Given the description of an element on the screen output the (x, y) to click on. 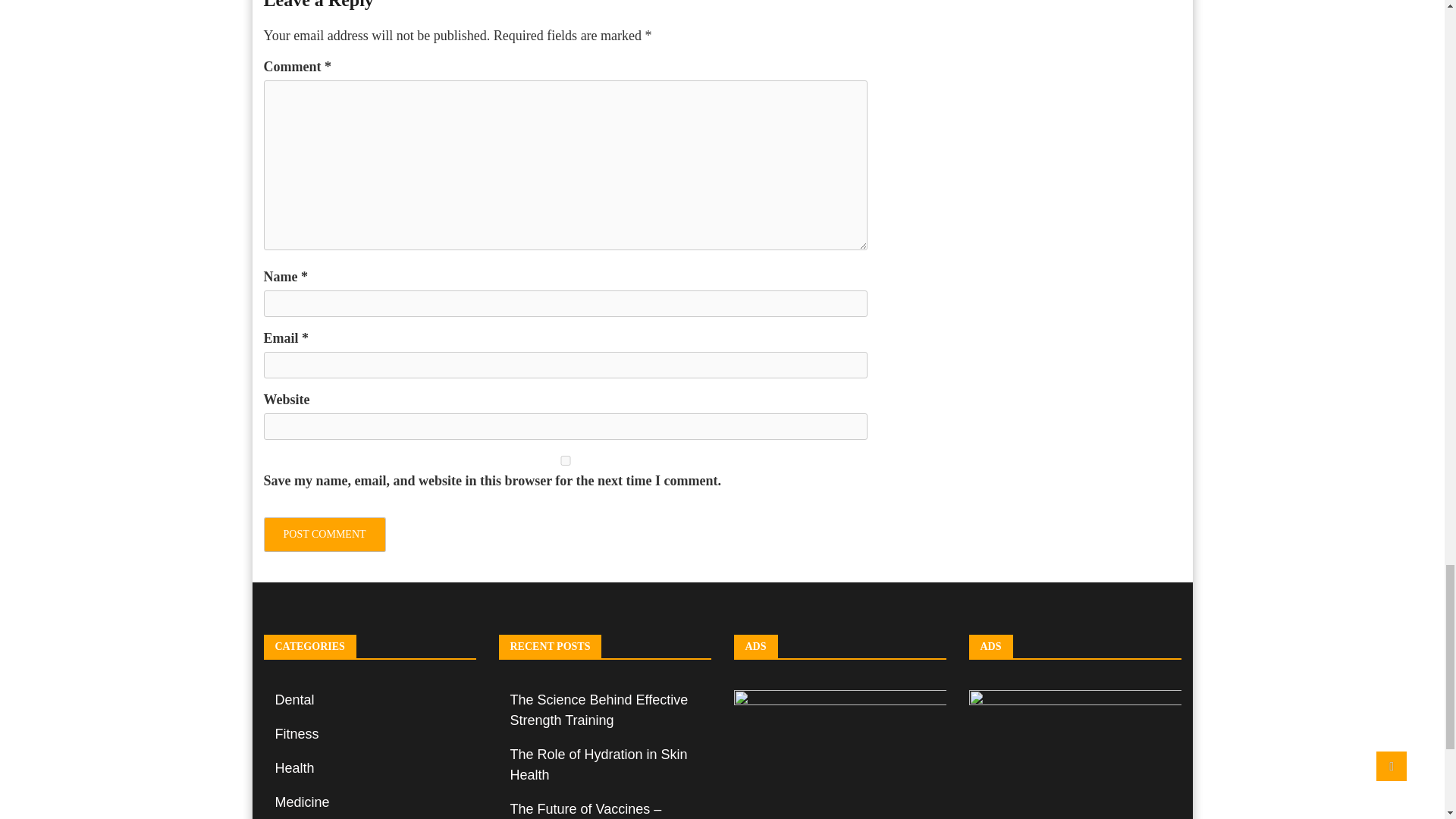
yes (565, 460)
Post Comment (324, 534)
Post Comment (324, 534)
